Given the description of an element on the screen output the (x, y) to click on. 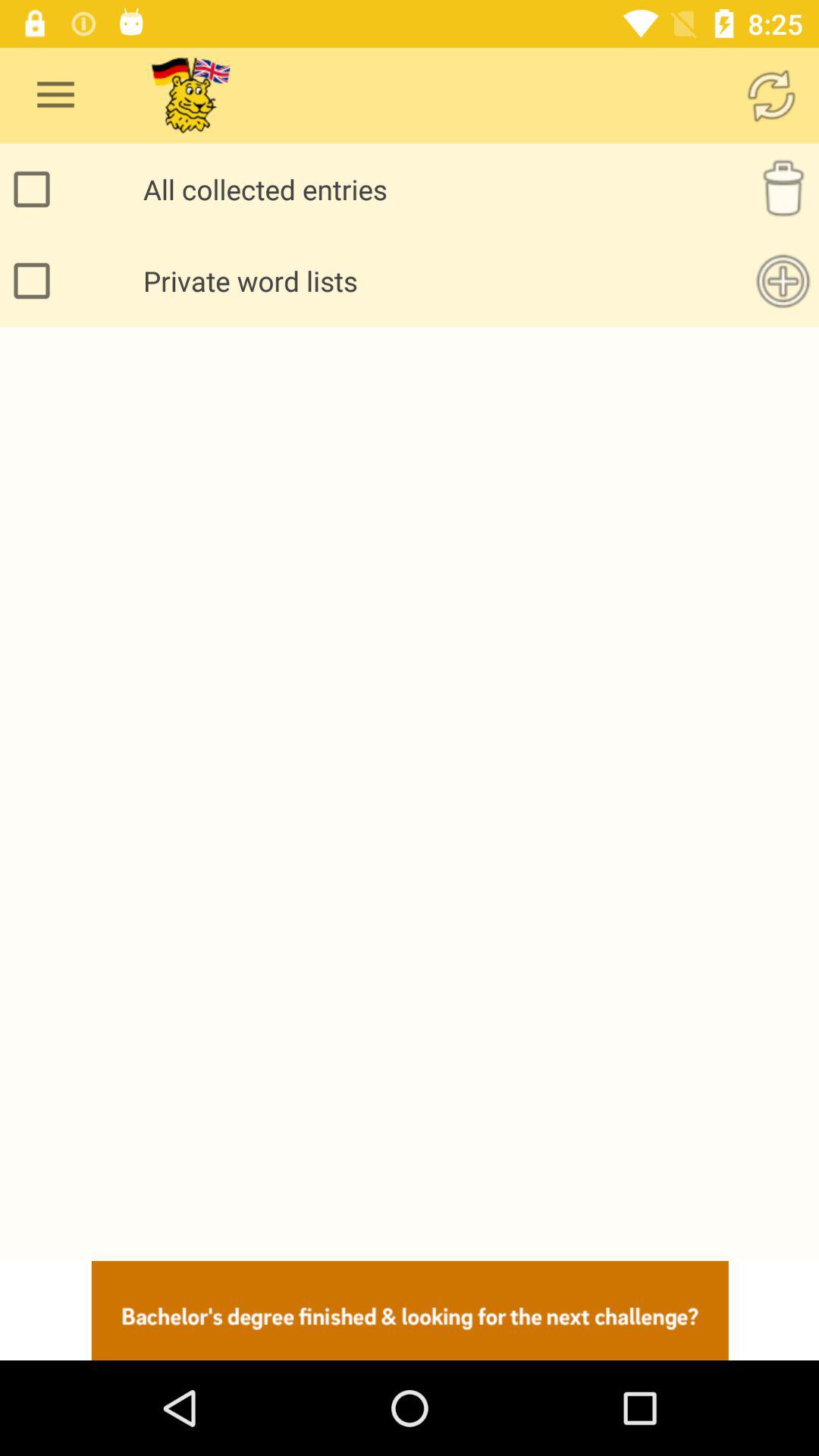
select all collected entries (35, 189)
